Given the description of an element on the screen output the (x, y) to click on. 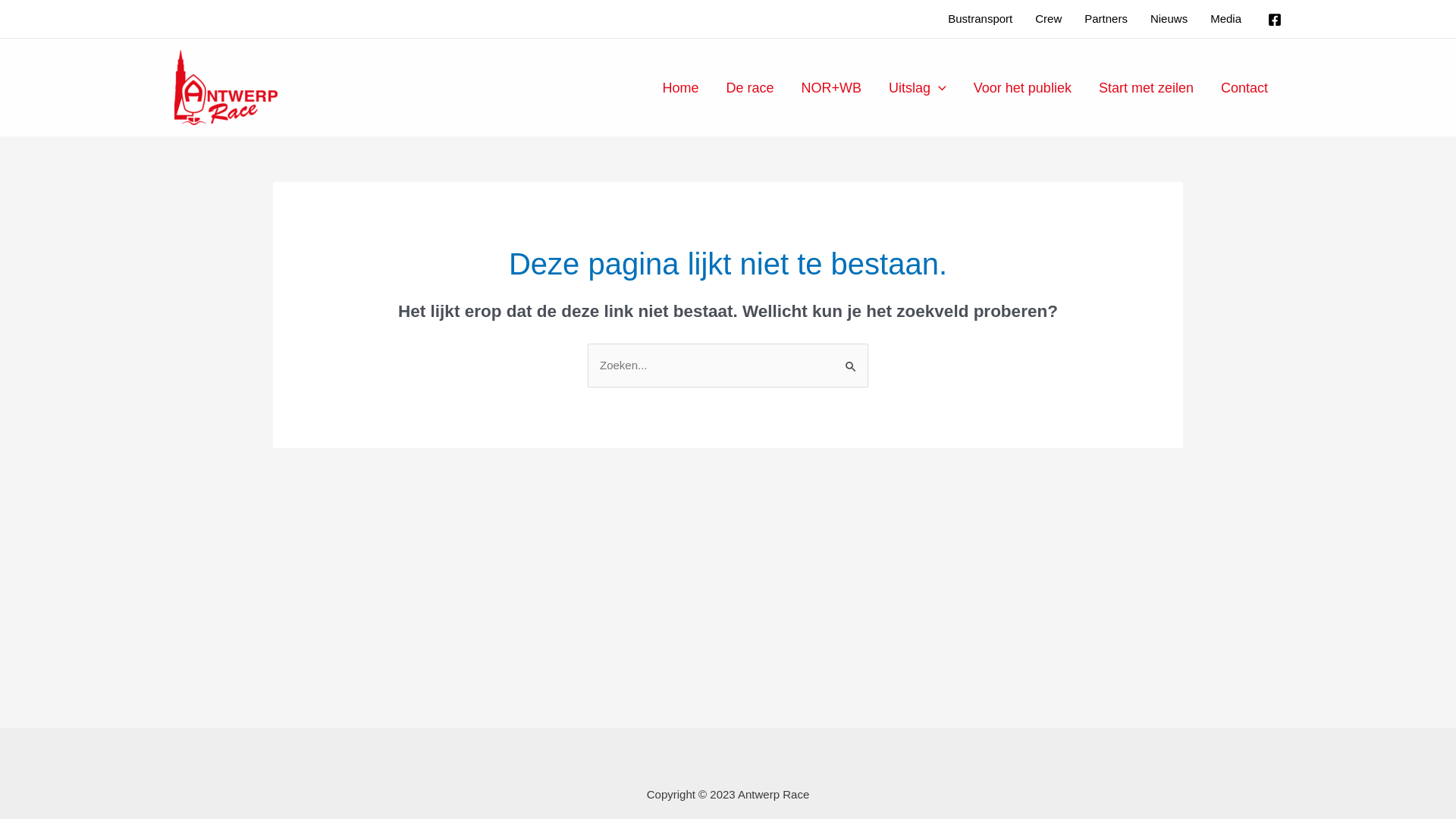
Uitslag Element type: text (917, 86)
Contact Element type: text (1244, 86)
Partners Element type: text (1106, 18)
Bustransport Element type: text (979, 18)
Home Element type: text (680, 86)
Voor het publiek Element type: text (1022, 86)
NOR+WB Element type: text (831, 86)
Nieuws Element type: text (1168, 18)
Media Element type: text (1225, 18)
Zoeken Element type: text (851, 358)
Crew Element type: text (1048, 18)
Start met zeilen Element type: text (1146, 86)
De race Element type: text (749, 86)
